Given the description of an element on the screen output the (x, y) to click on. 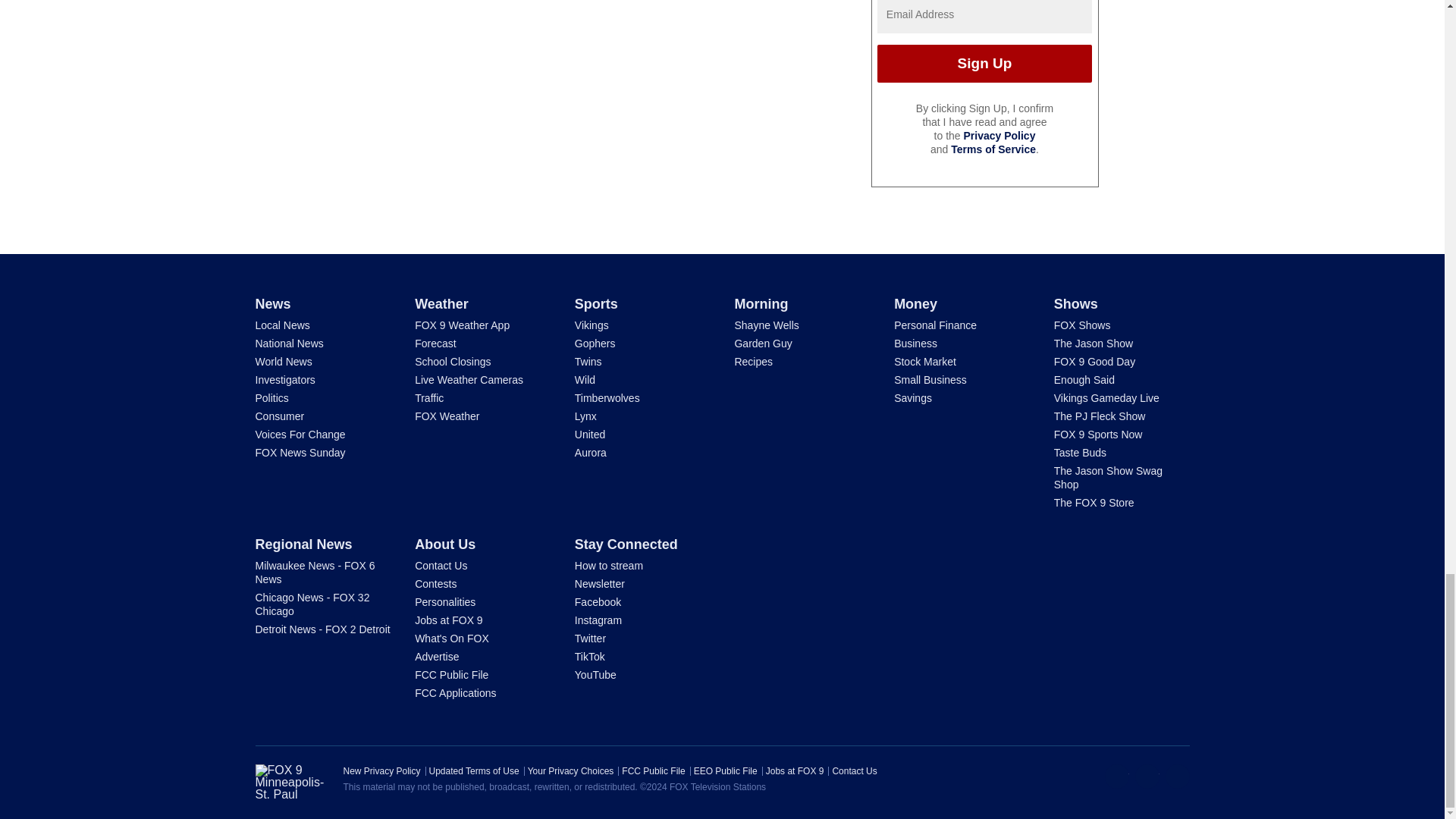
Sign Up (984, 63)
